Given the description of an element on the screen output the (x, y) to click on. 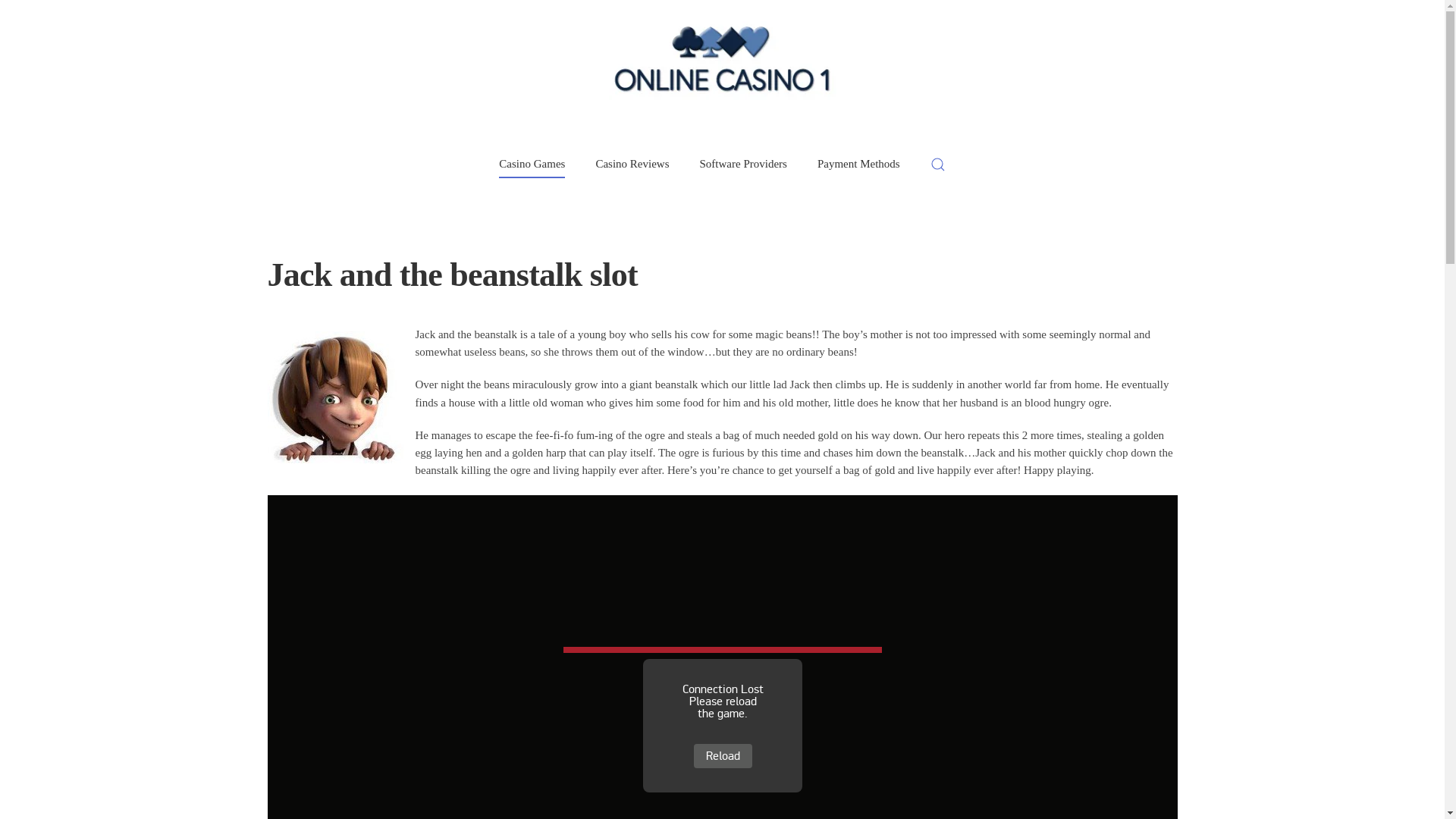
jack (334, 397)
